Given the description of an element on the screen output the (x, y) to click on. 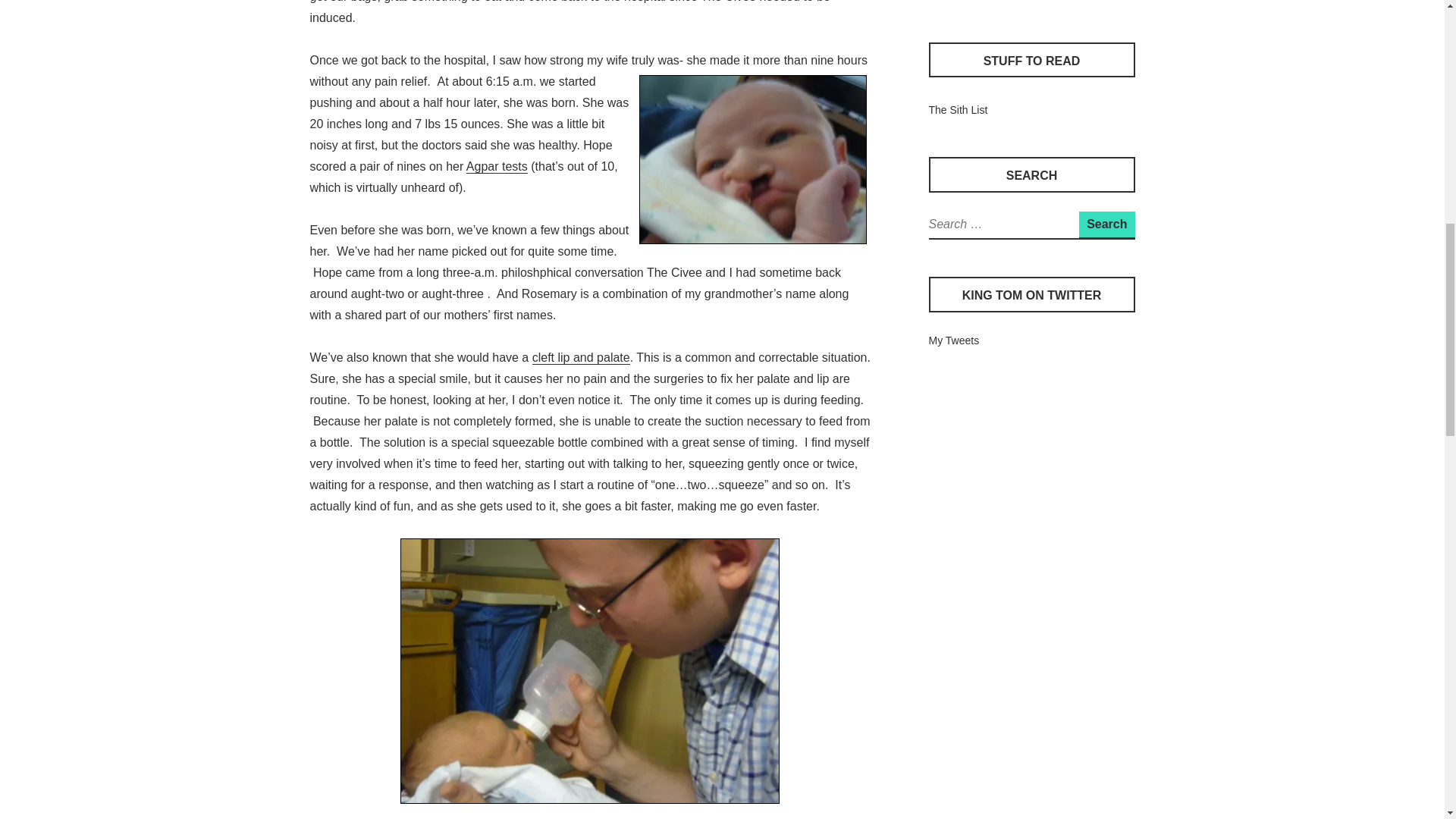
Search (1106, 224)
Feeding Hope (589, 670)
The Sith List (957, 110)
The Sith List, Fool! (957, 110)
Baby Hope (752, 159)
Search (1106, 224)
Search (1106, 224)
Weezer (945, 0)
My Tweets (953, 340)
cleft lip and palate (581, 357)
